Given the description of an element on the screen output the (x, y) to click on. 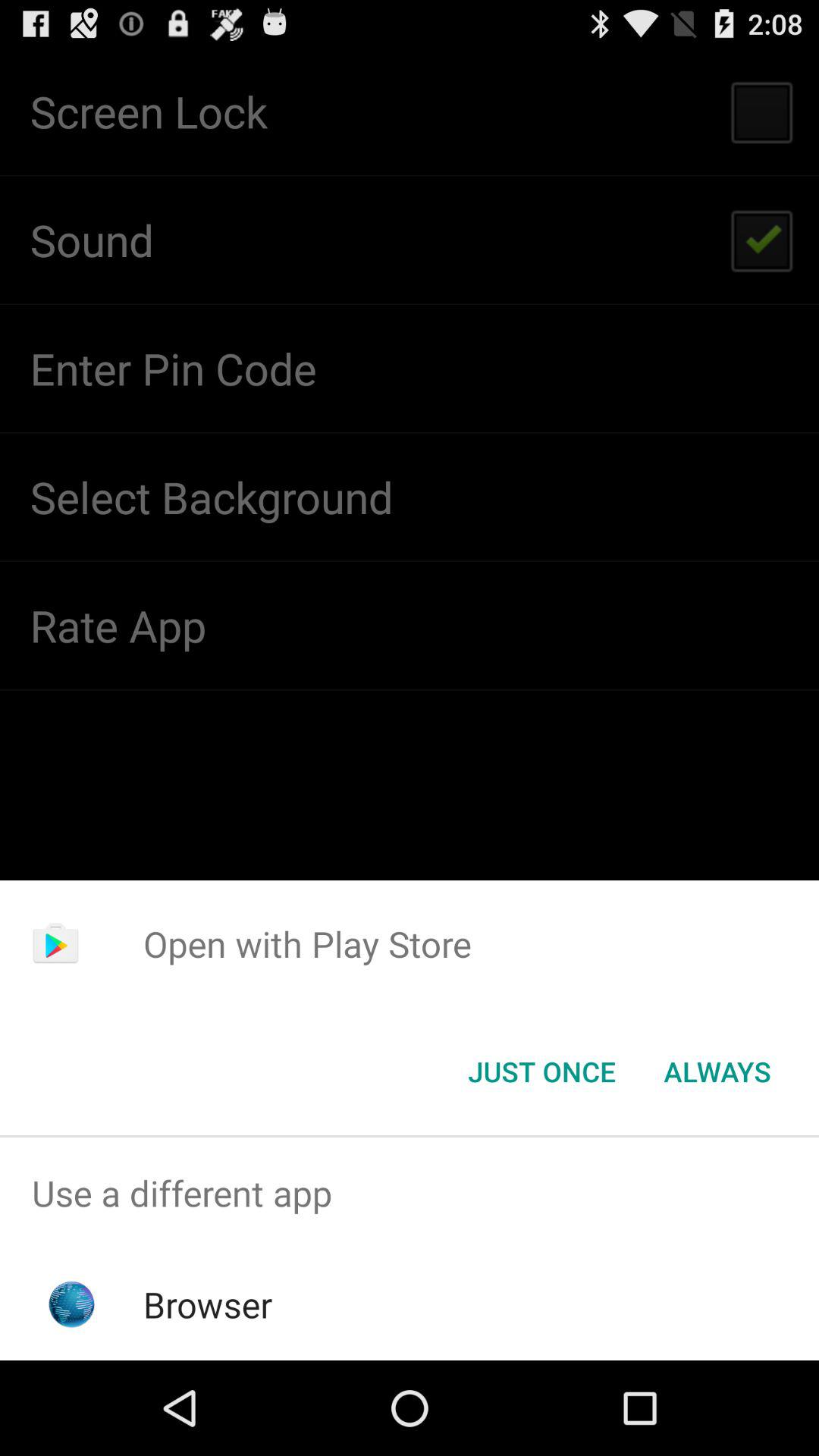
tap the app above browser (409, 1192)
